Given the description of an element on the screen output the (x, y) to click on. 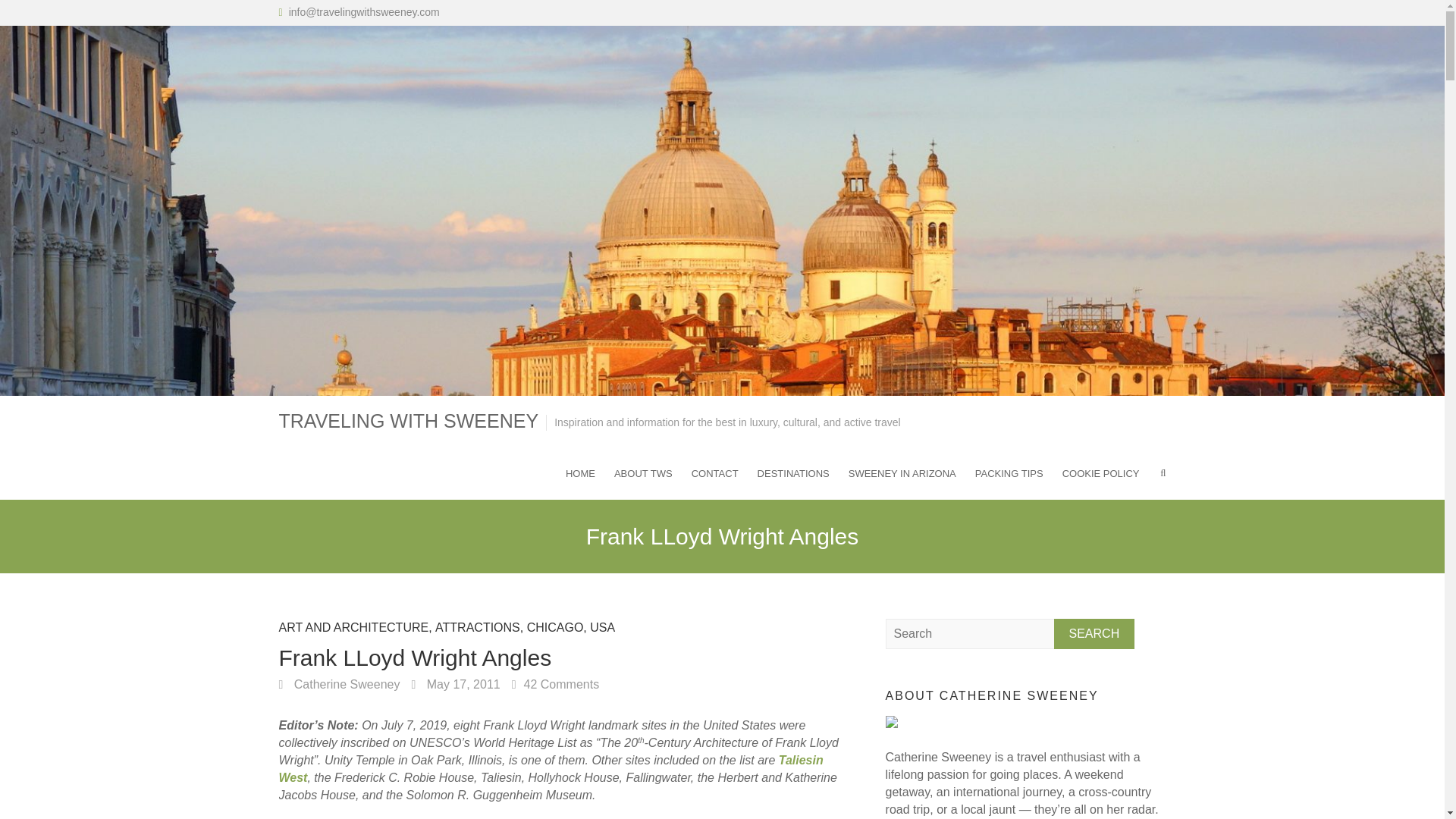
Traveling with Sweeney (408, 421)
ABOUT TWS (643, 472)
TRAVELING WITH SWEENEY (408, 421)
Search (1094, 634)
Search (1094, 634)
11:44 pm (454, 684)
Catherine Sweeney (339, 684)
Mail Us (363, 11)
DESTINATIONS (793, 472)
